Given the description of an element on the screen output the (x, y) to click on. 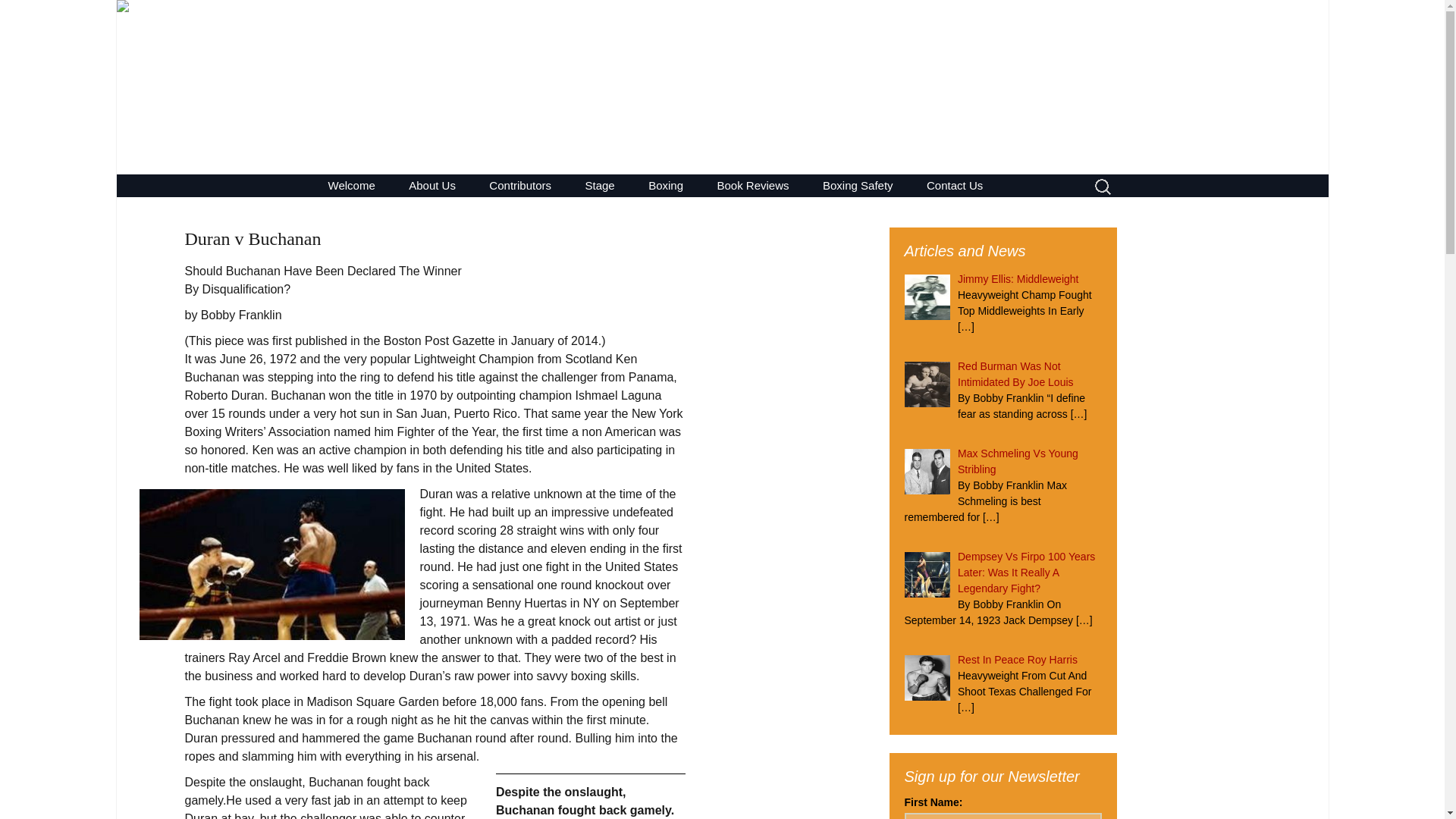
Jimmy Ellis: Middleweight (1018, 278)
Rest In Peace Roy Harris (1017, 659)
Search (18, 15)
Boxing Articles (708, 207)
Music (954, 185)
Boxing (646, 207)
Welcome (665, 185)
Stage (351, 185)
Red Burman Was Not Intimidated By Joe Louis (600, 185)
Archives by Author (1016, 374)
